Given the description of an element on the screen output the (x, y) to click on. 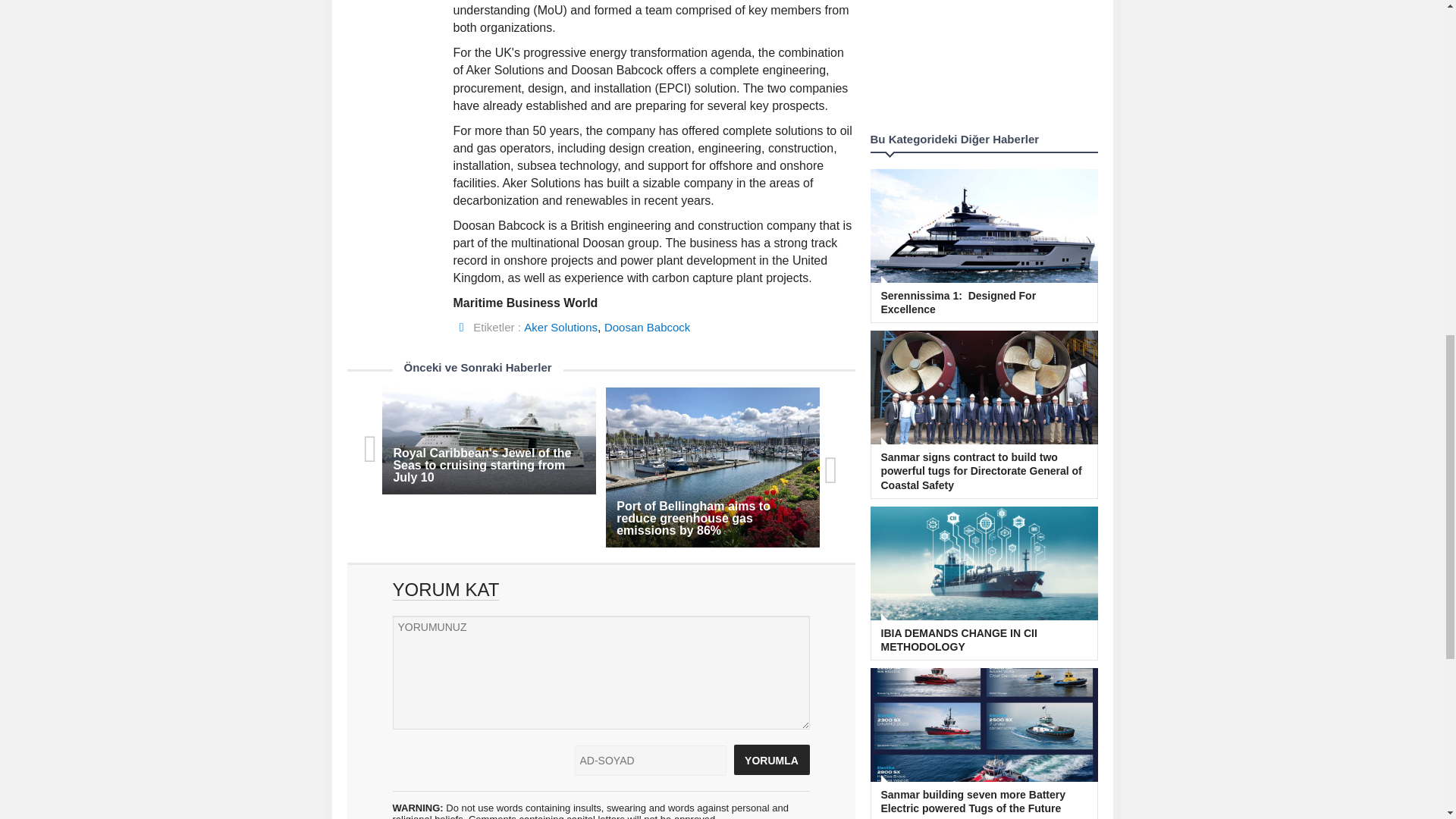
YORUMLA (771, 759)
Advertisement (983, 61)
Aker Solutions haberleri (560, 327)
Doosan Babcock haberleri (647, 327)
